Given the description of an element on the screen output the (x, y) to click on. 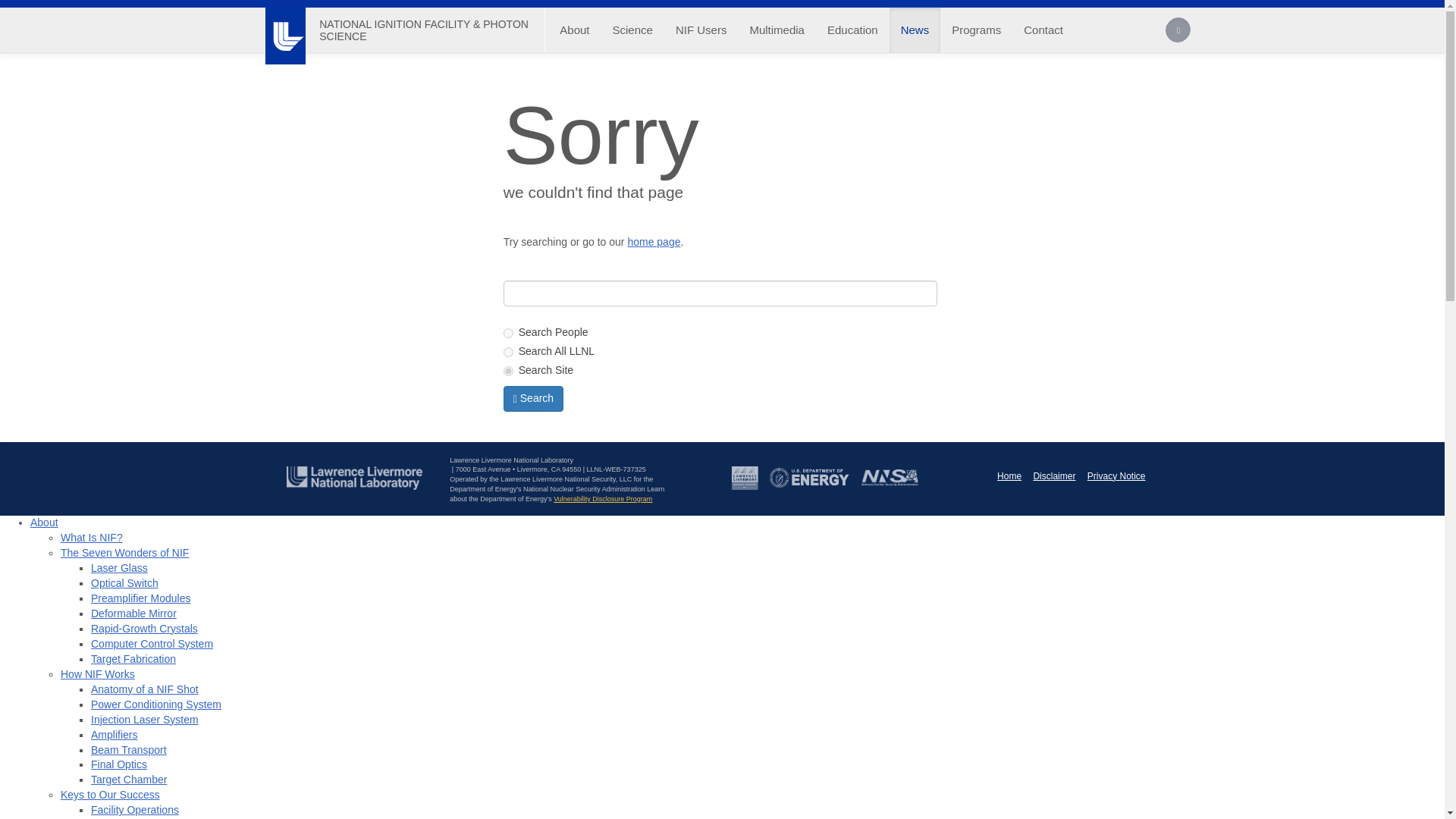
people (508, 333)
What is NIF? (91, 537)
site (508, 370)
About (573, 30)
all (508, 352)
Home (423, 30)
Home (653, 241)
Search (1179, 31)
